Given the description of an element on the screen output the (x, y) to click on. 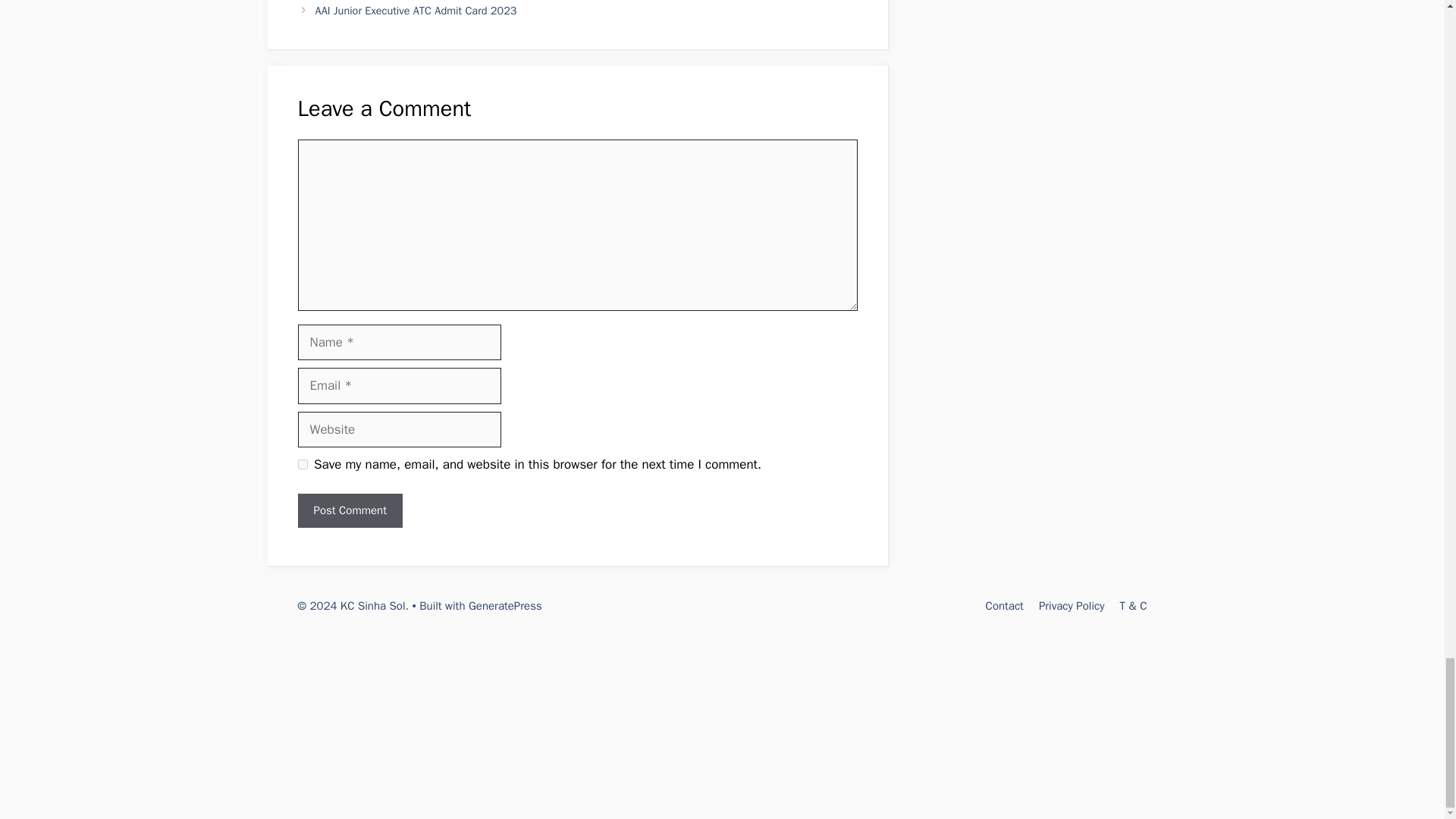
yes (302, 464)
AAI Junior Executive ATC Admit Card 2023 (415, 10)
Post Comment (349, 510)
Post Comment (349, 510)
